Given the description of an element on the screen output the (x, y) to click on. 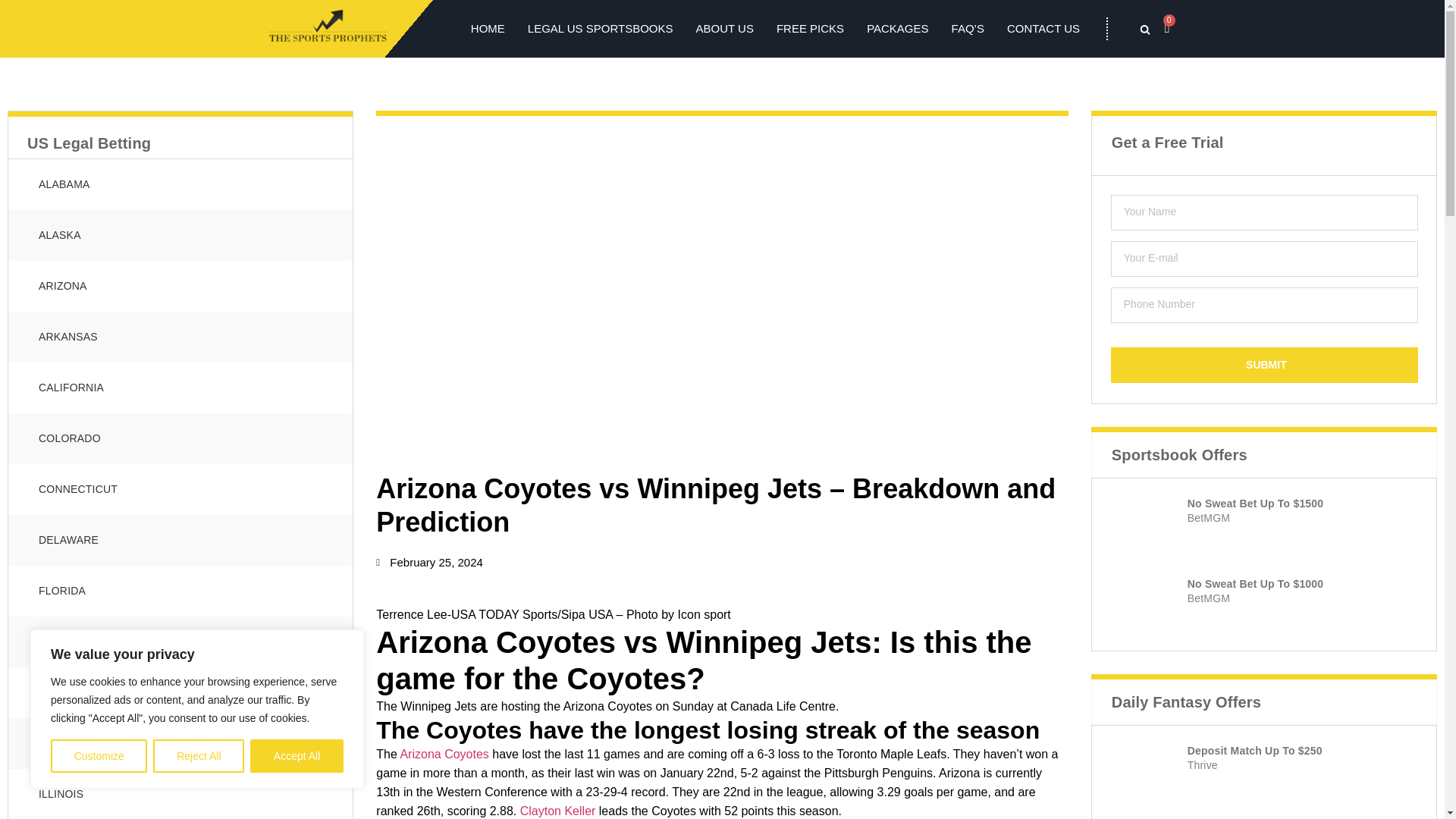
Customize (98, 756)
Reject All (198, 756)
Accept All (296, 756)
HOME (487, 28)
FREE PICKS (810, 28)
ABOUT US (724, 28)
CONTACT US (1043, 28)
LEGAL US SPORTSBOOKS (599, 28)
PACKAGES (897, 28)
